Given the description of an element on the screen output the (x, y) to click on. 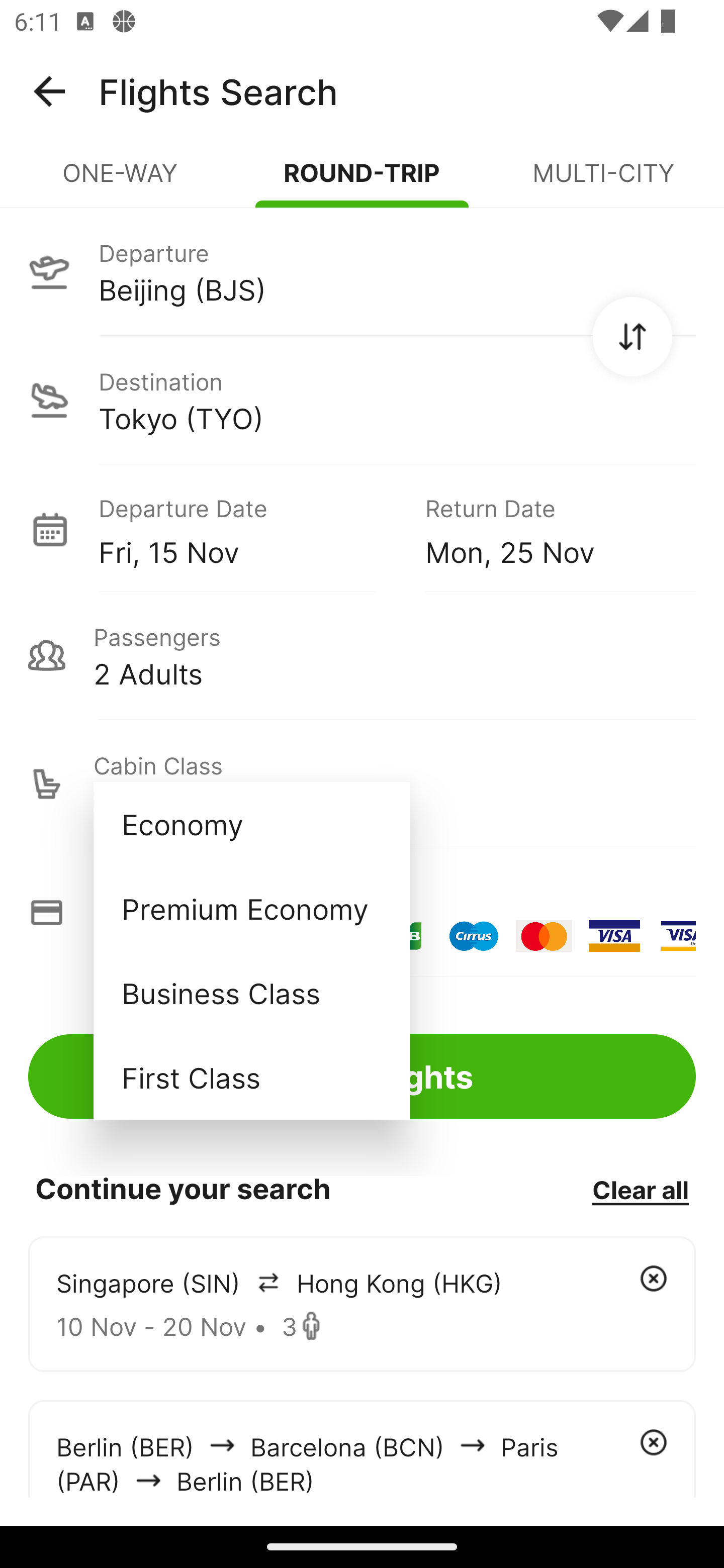
Economy (251, 824)
Premium Economy (251, 908)
Business Class (251, 992)
First Class (251, 1076)
